Given the description of an element on the screen output the (x, y) to click on. 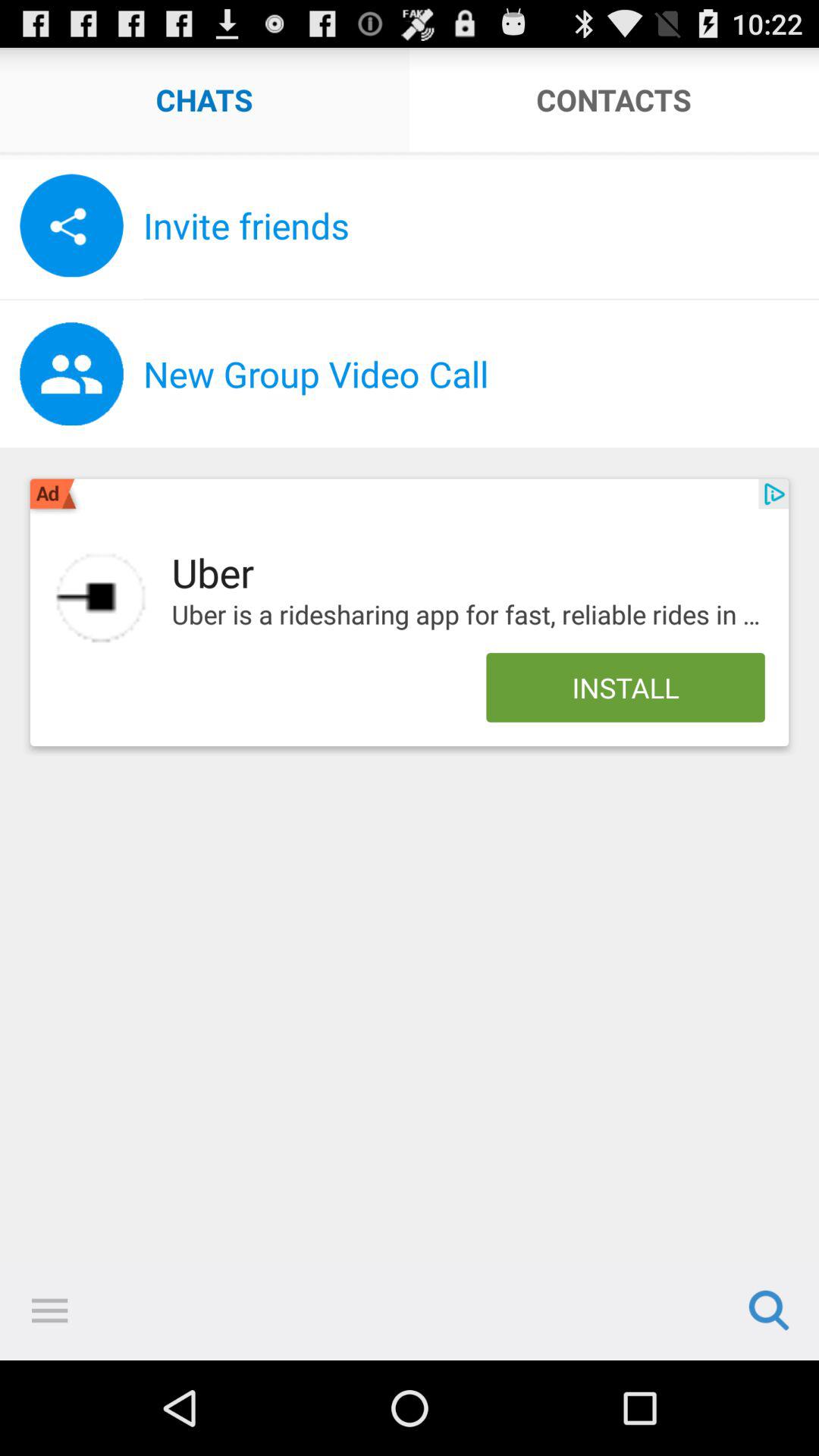
open uber is a icon (467, 615)
